Given the description of an element on the screen output the (x, y) to click on. 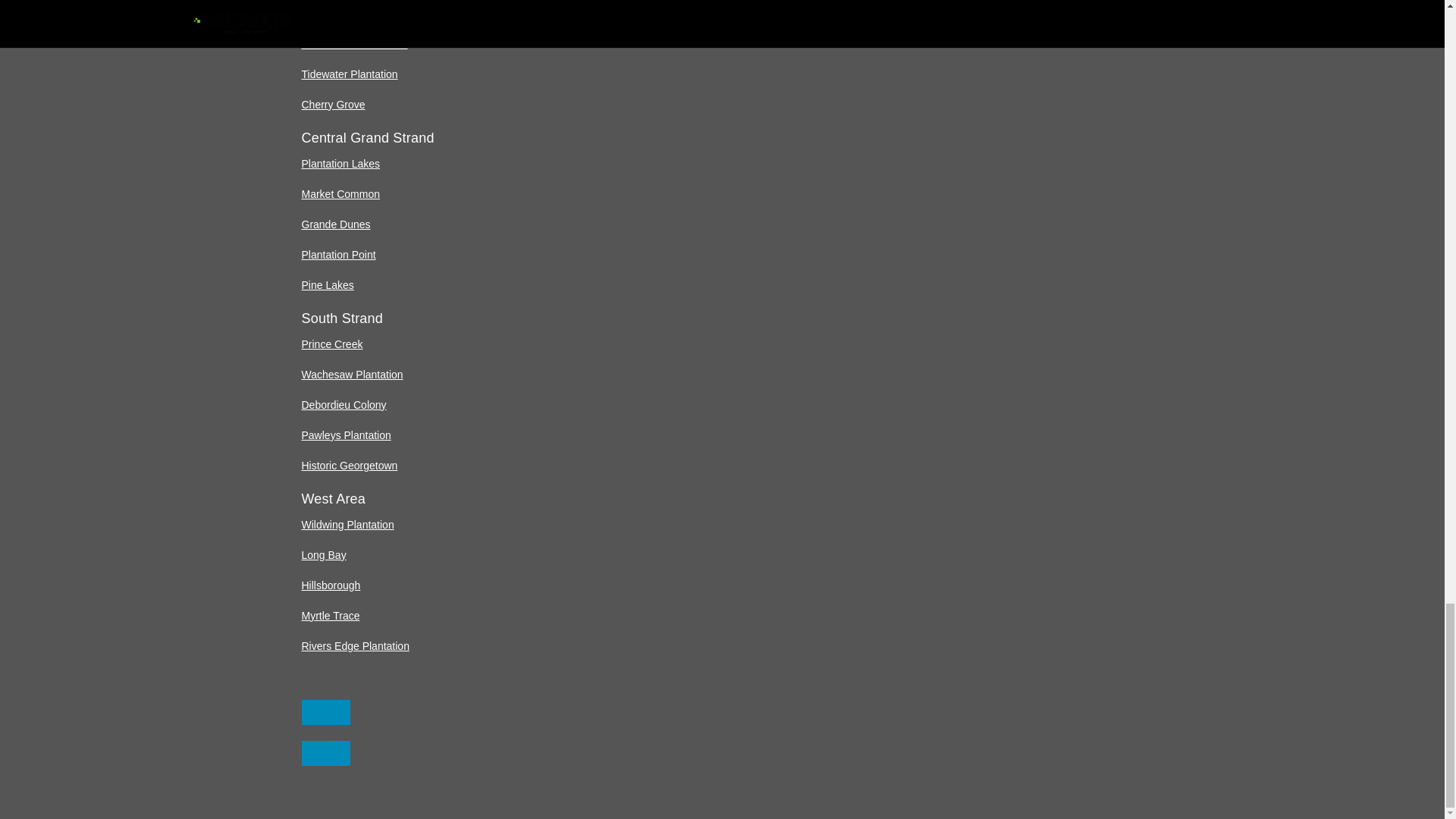
Cherry Grove Real Estate For Sale (333, 104)
Bridgewater Homes For Sale (329, 13)
Pine Lakes Homes For Sale (327, 285)
Available Plantation Lakes homes for sale (340, 163)
North Breach Plantation Properties (354, 43)
Available Plantation Point Homes For Sale (338, 254)
Available Market Common Real Estate (340, 193)
Available Prince Creek Real Estate (331, 344)
Grande Dunes Homes and Condos For Sale (336, 224)
